Given the description of an element on the screen output the (x, y) to click on. 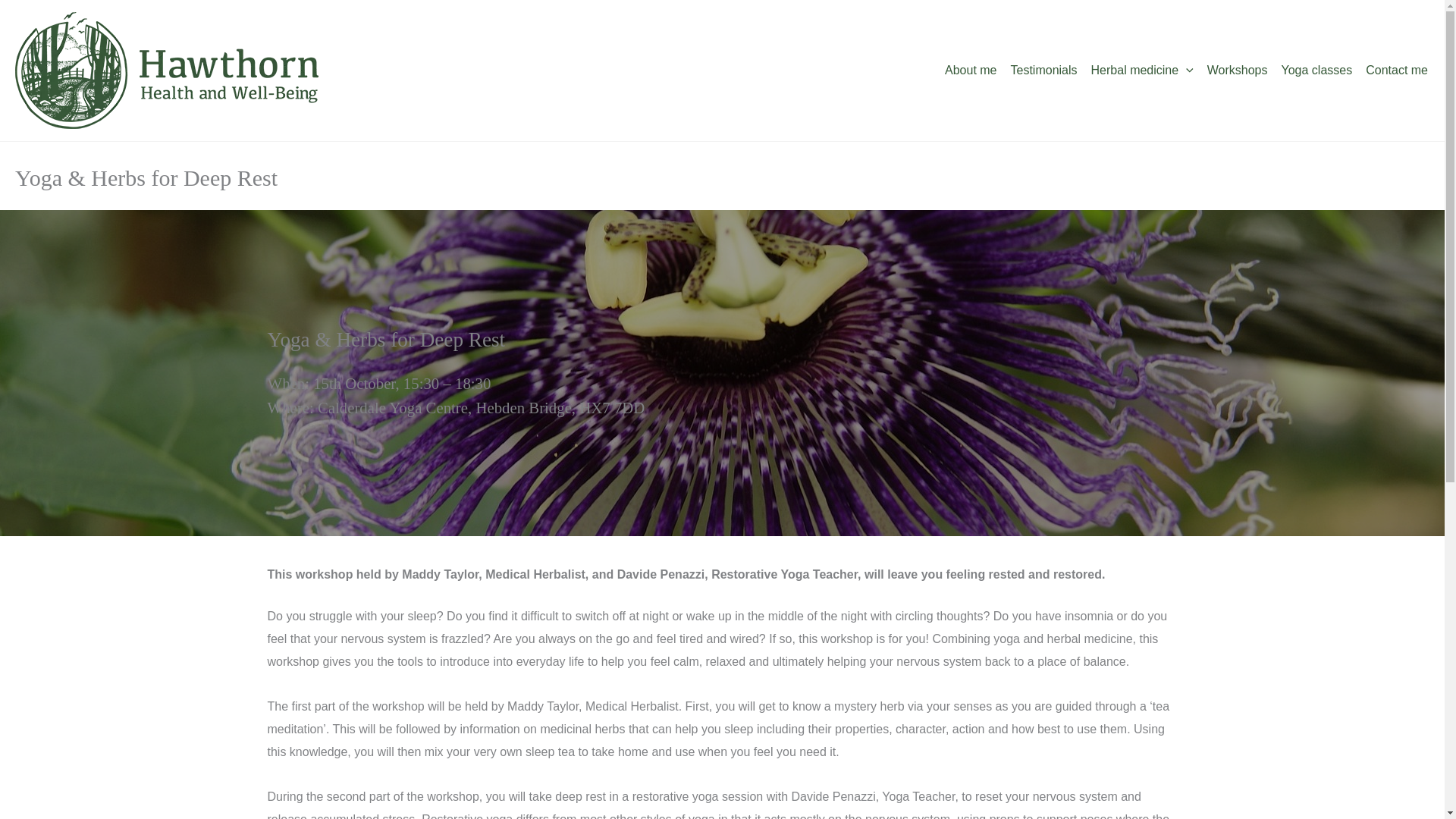
Contact me (1391, 70)
Testimonials (1038, 70)
Yoga classes (1311, 70)
About me (965, 70)
Workshops (1232, 70)
Herbal medicine (1136, 70)
